Given the description of an element on the screen output the (x, y) to click on. 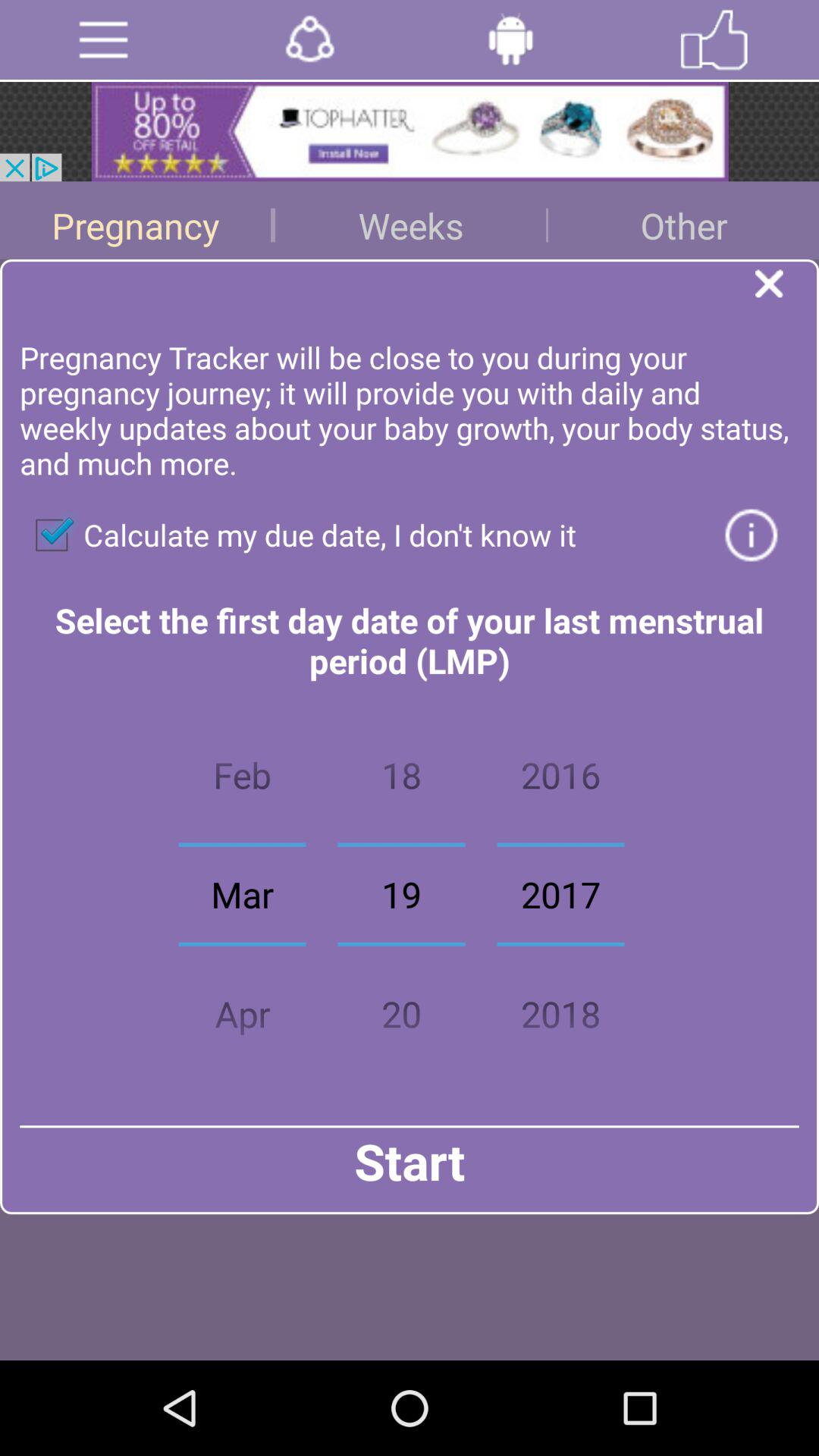
open advertisement (409, 131)
